Given the description of an element on the screen output the (x, y) to click on. 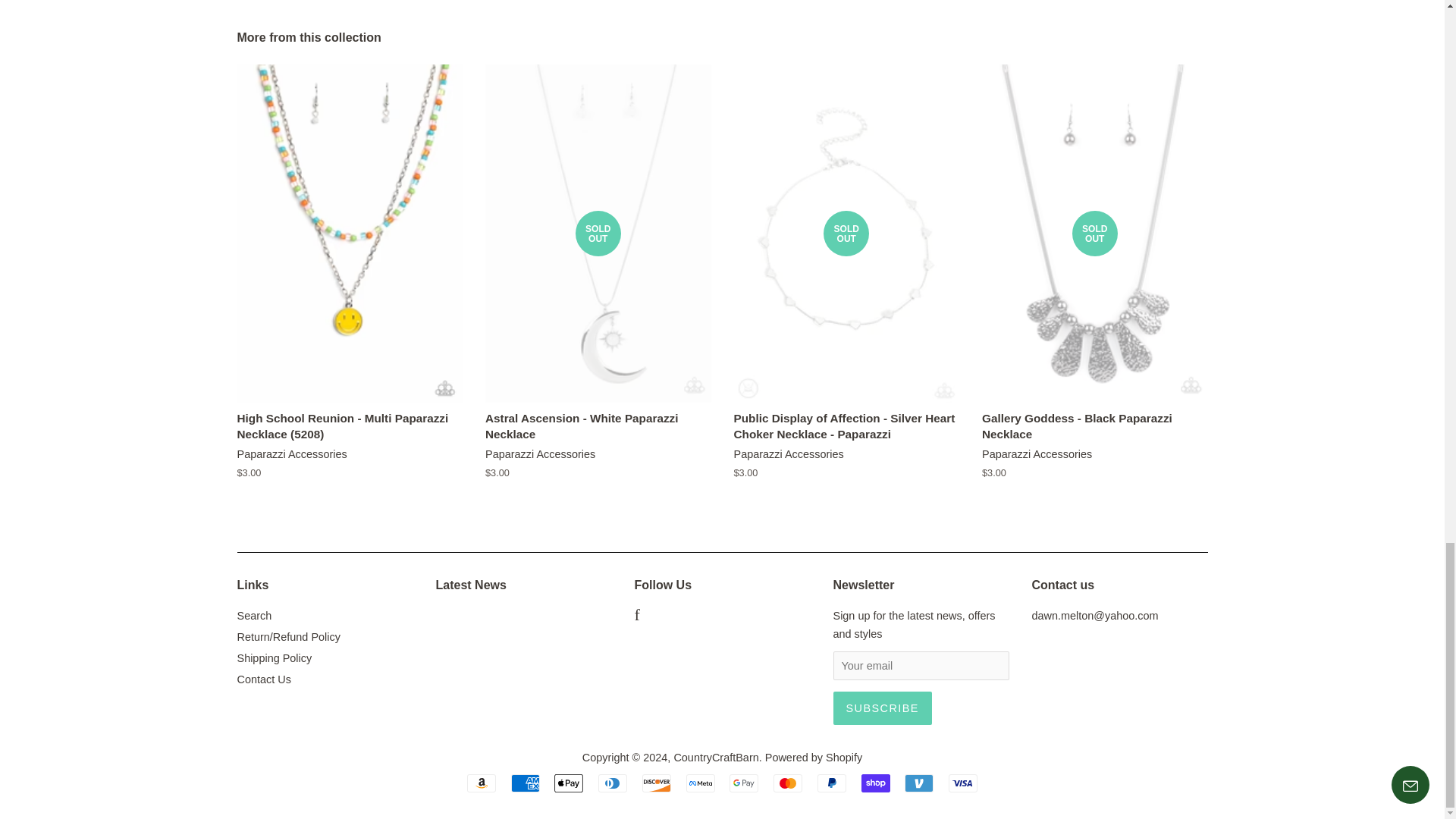
Meta Pay (699, 782)
Google Pay (743, 782)
Mastercard (787, 782)
Shop Pay (875, 782)
Venmo (918, 782)
Subscribe (881, 707)
American Express (525, 782)
Diners Club (612, 782)
Amazon (481, 782)
Visa (962, 782)
